Given the description of an element on the screen output the (x, y) to click on. 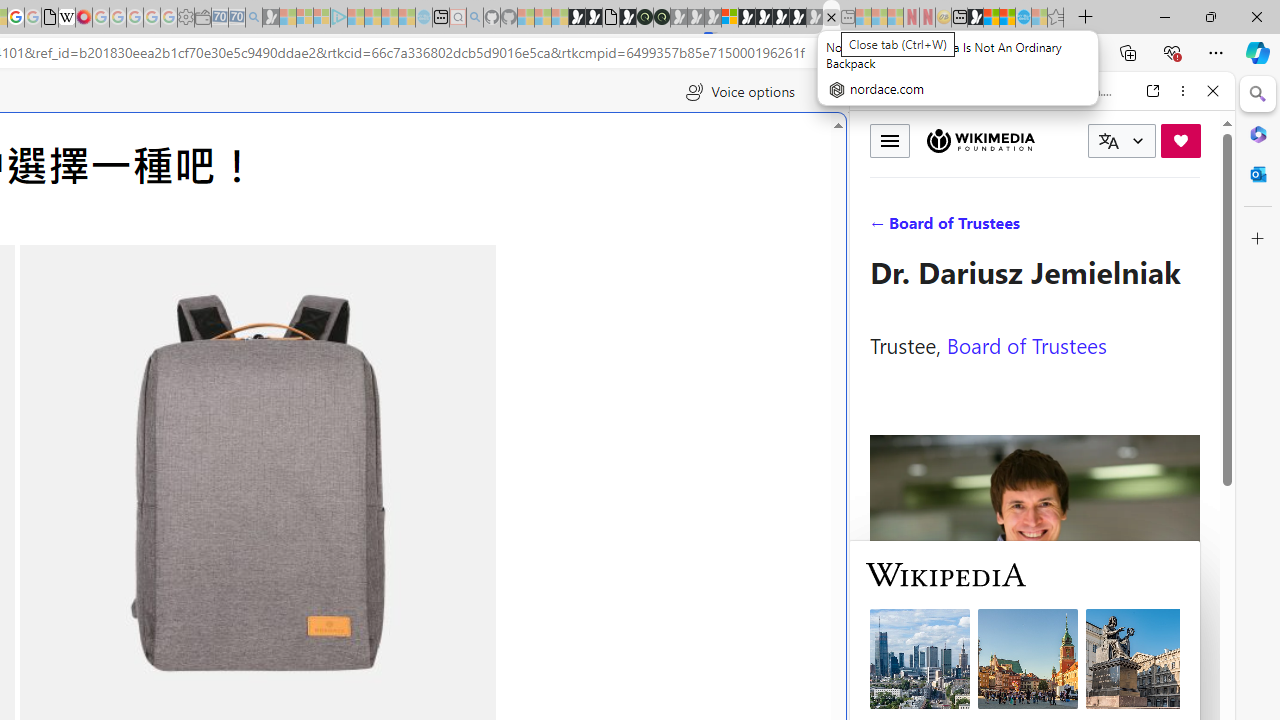
CURRENT LANGUAGE: (1121, 141)
Close split screen (844, 102)
Target page - Wikipedia (66, 17)
Close read aloud (825, 92)
